Given the description of an element on the screen output the (x, y) to click on. 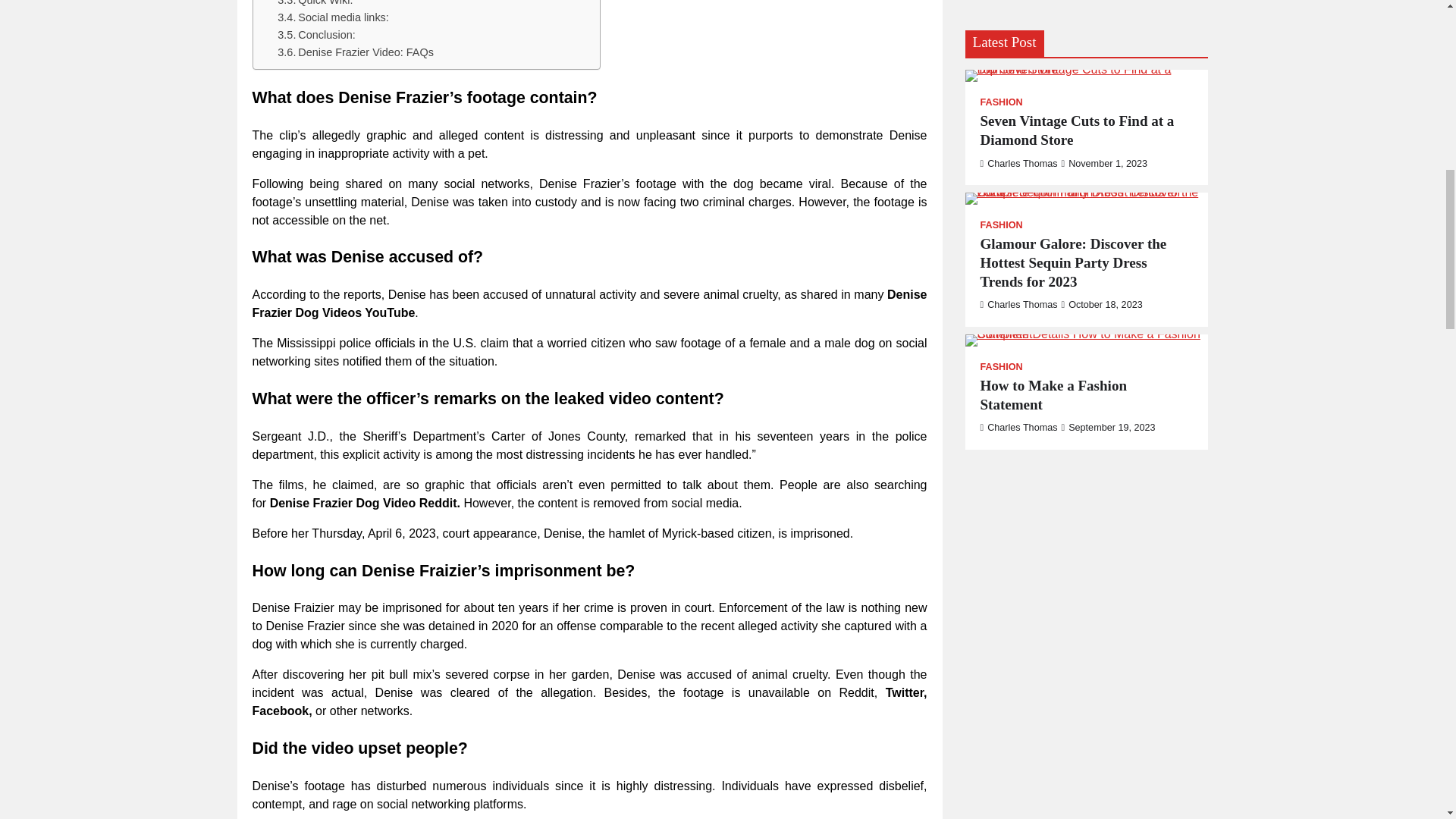
Conclusion: (316, 35)
Social media links: (333, 17)
Quick Wiki: (315, 4)
Denise Frazier Video: FAQs (355, 52)
